Given the description of an element on the screen output the (x, y) to click on. 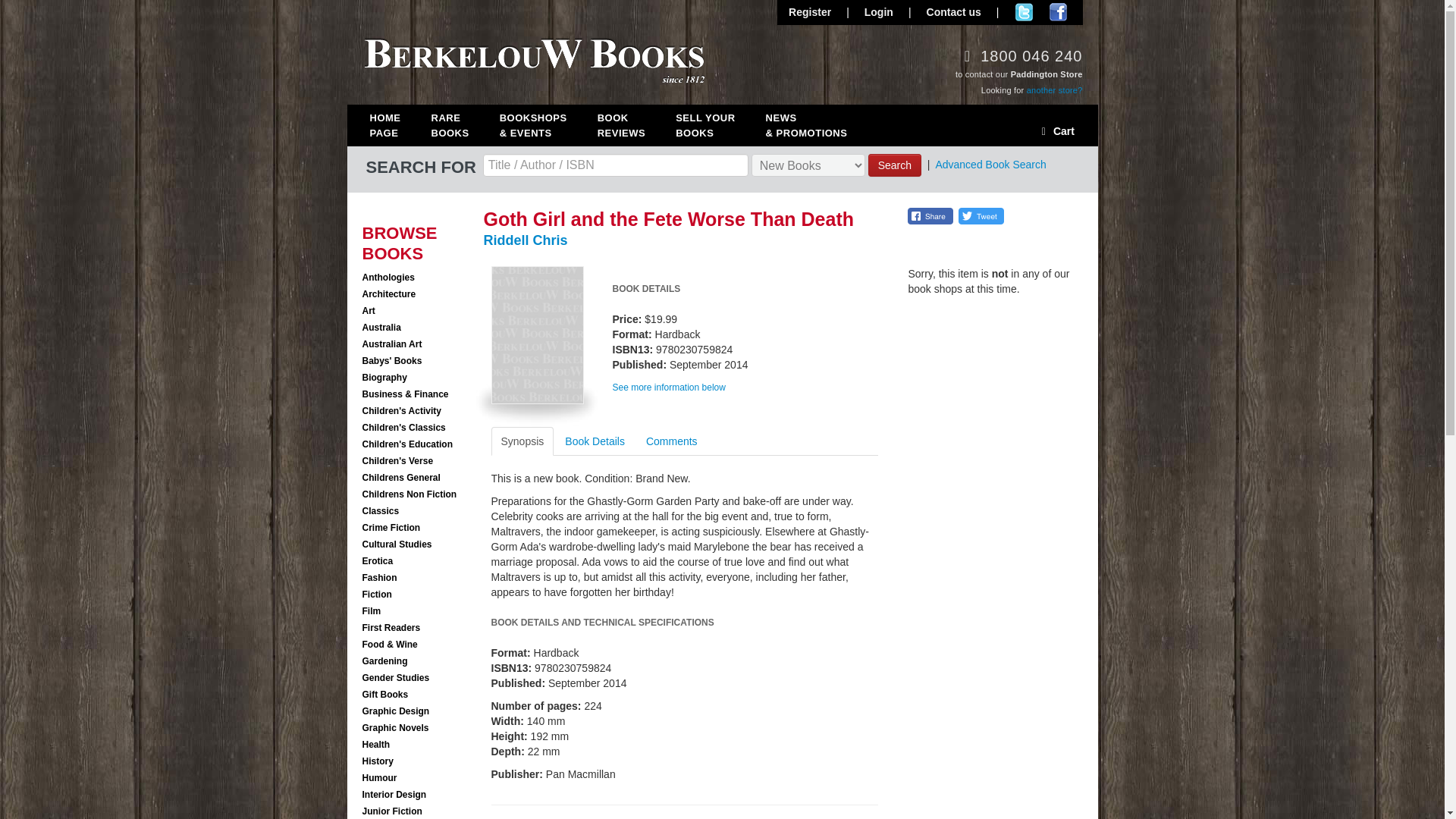
Cart (1059, 130)
Home page (396, 122)
another store? (1054, 90)
Search (894, 164)
Follow us on Twitter (1023, 12)
Childrens Non Fiction (419, 494)
See more information below (632, 122)
Contact us (668, 387)
Anthologies (953, 12)
Book Reviews (419, 277)
Art (716, 122)
Rare Books (632, 122)
Erotica (419, 310)
